Given the description of an element on the screen output the (x, y) to click on. 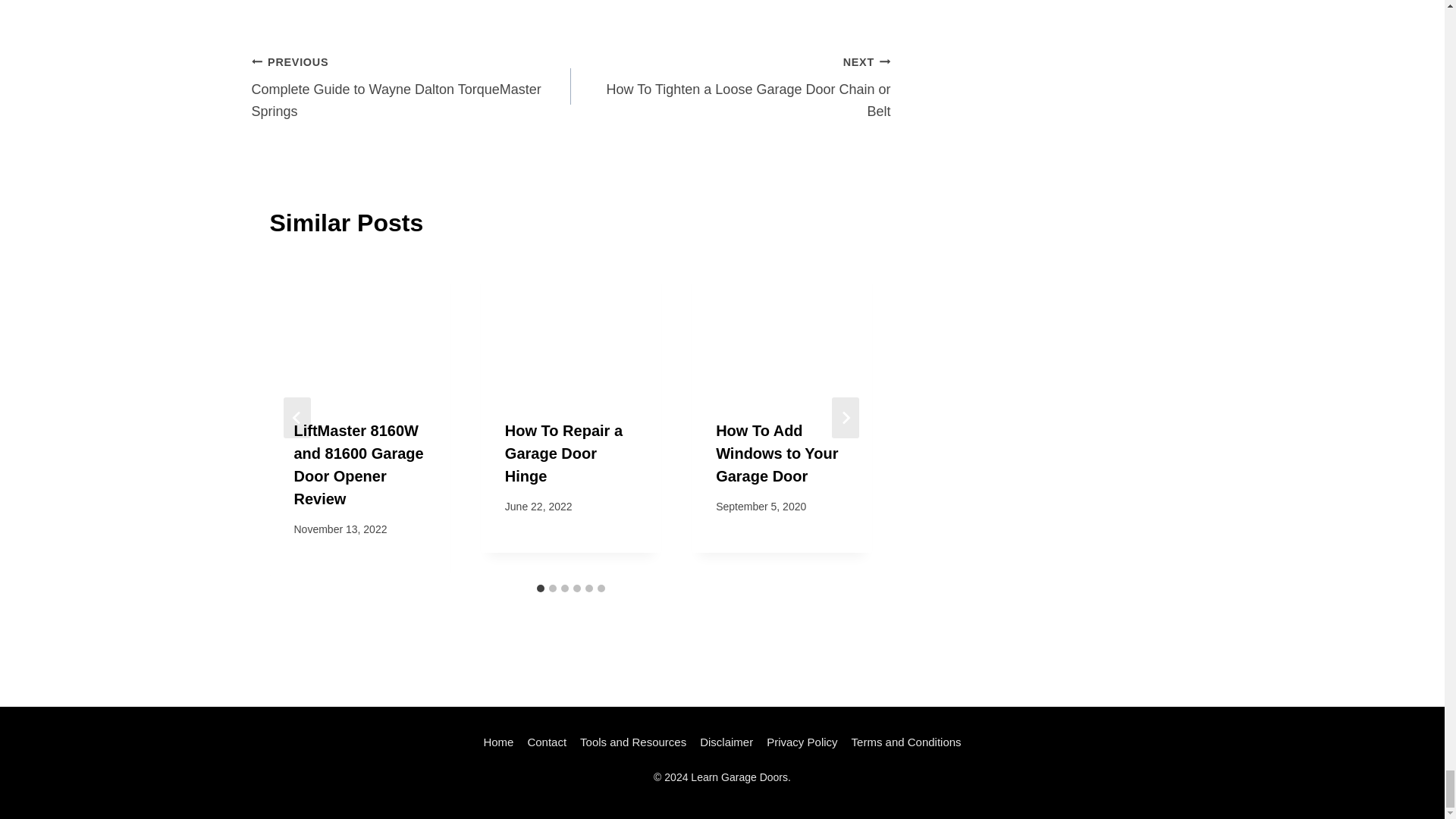
How To Repair a Garage Door Hinge (730, 86)
LiftMaster 8160W and 81600 Garage Door Opener Review (564, 453)
How To Add Windows to Your Garage Door (411, 86)
